Given the description of an element on the screen output the (x, y) to click on. 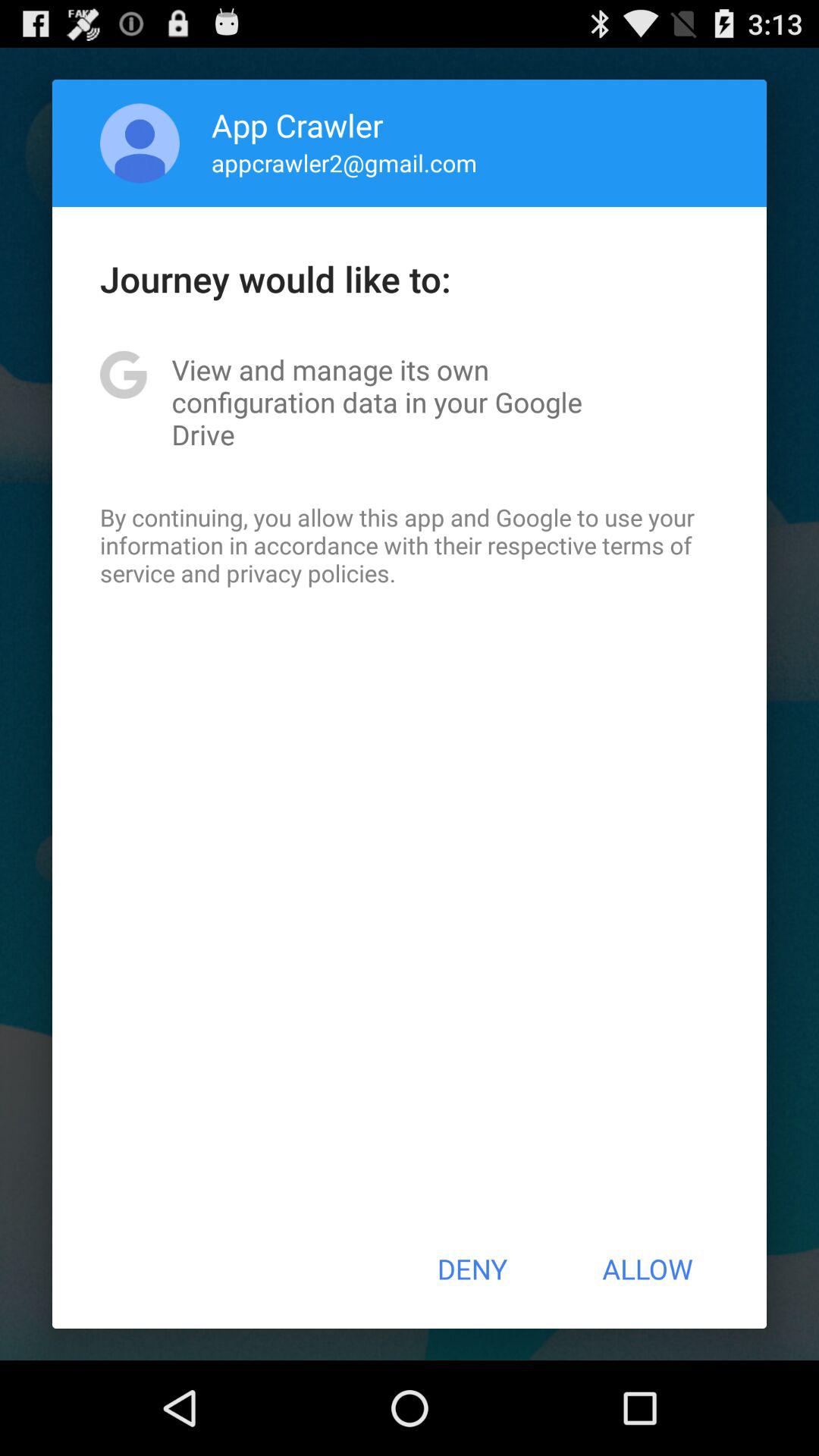
turn off view and manage item (409, 401)
